Given the description of an element on the screen output the (x, y) to click on. 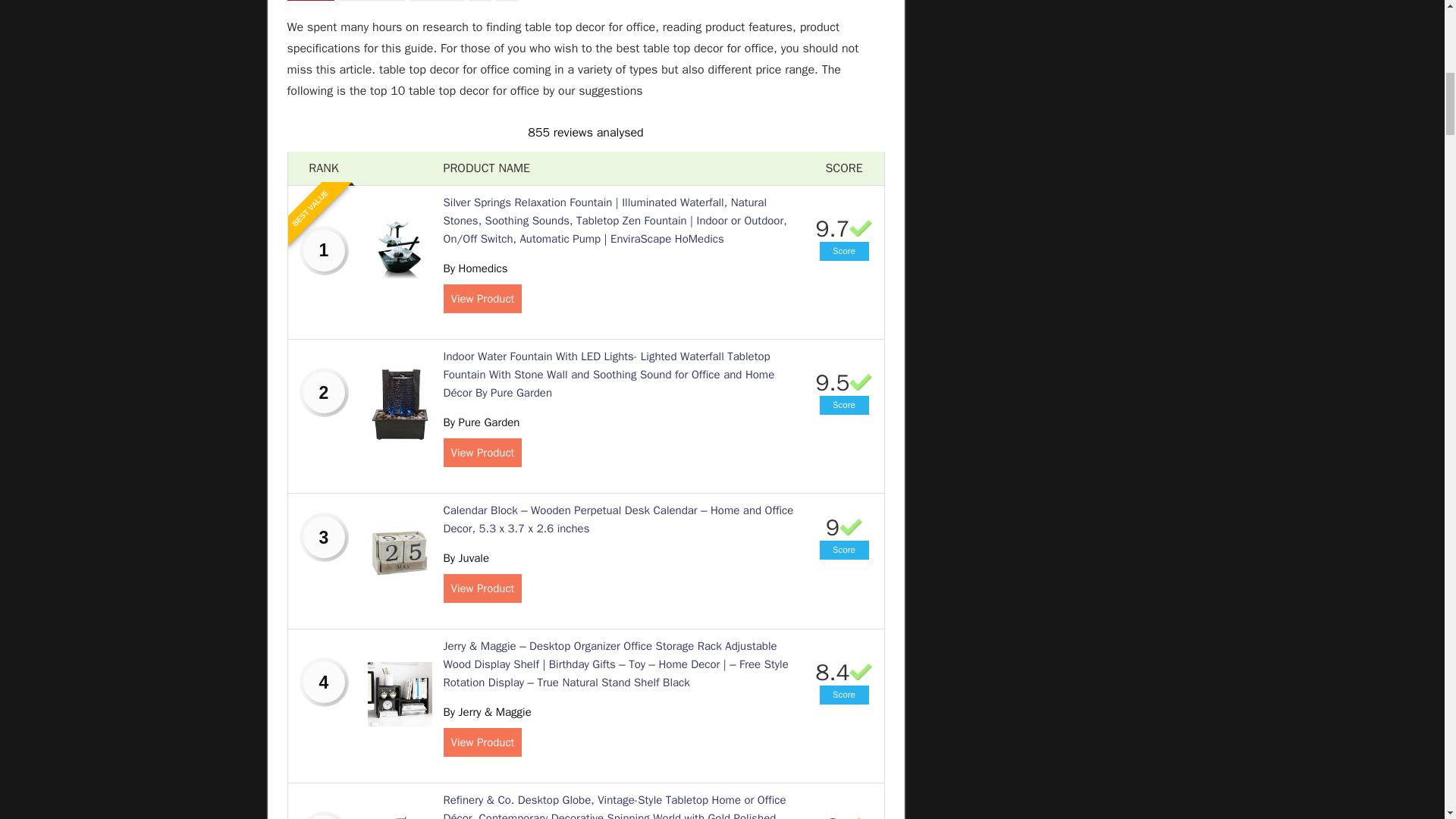
View Product (481, 298)
View Product (481, 452)
By Pure Garden (480, 422)
View Product (481, 588)
By Homedics (474, 268)
View Product (481, 742)
By Juvale (465, 558)
